Given the description of an element on the screen output the (x, y) to click on. 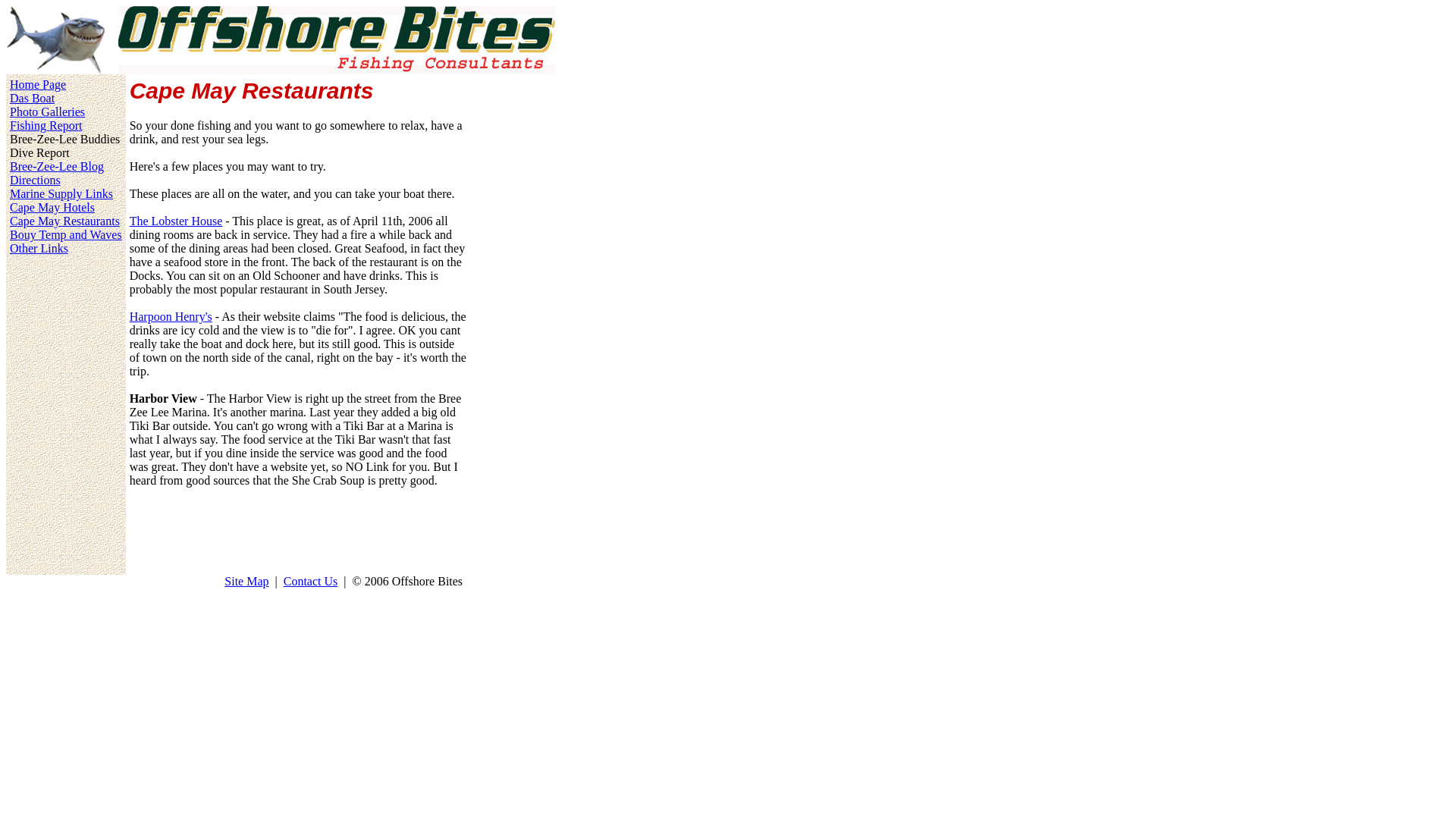
Cape May Restaurants (64, 220)
Directions (35, 179)
Marine Supply Links (61, 193)
Other Links (39, 247)
Contact Us (310, 581)
Cape May Hotels (52, 206)
Bree-Zee-Lee Blog (56, 165)
Photo Galleries (47, 111)
Advertisement (515, 89)
Fishing Report (46, 124)
The Lobster House (175, 220)
Bouy Temp and Waves (66, 234)
Home Page (37, 83)
Das Boat (32, 97)
Harpoon Henry's (170, 316)
